Given the description of an element on the screen output the (x, y) to click on. 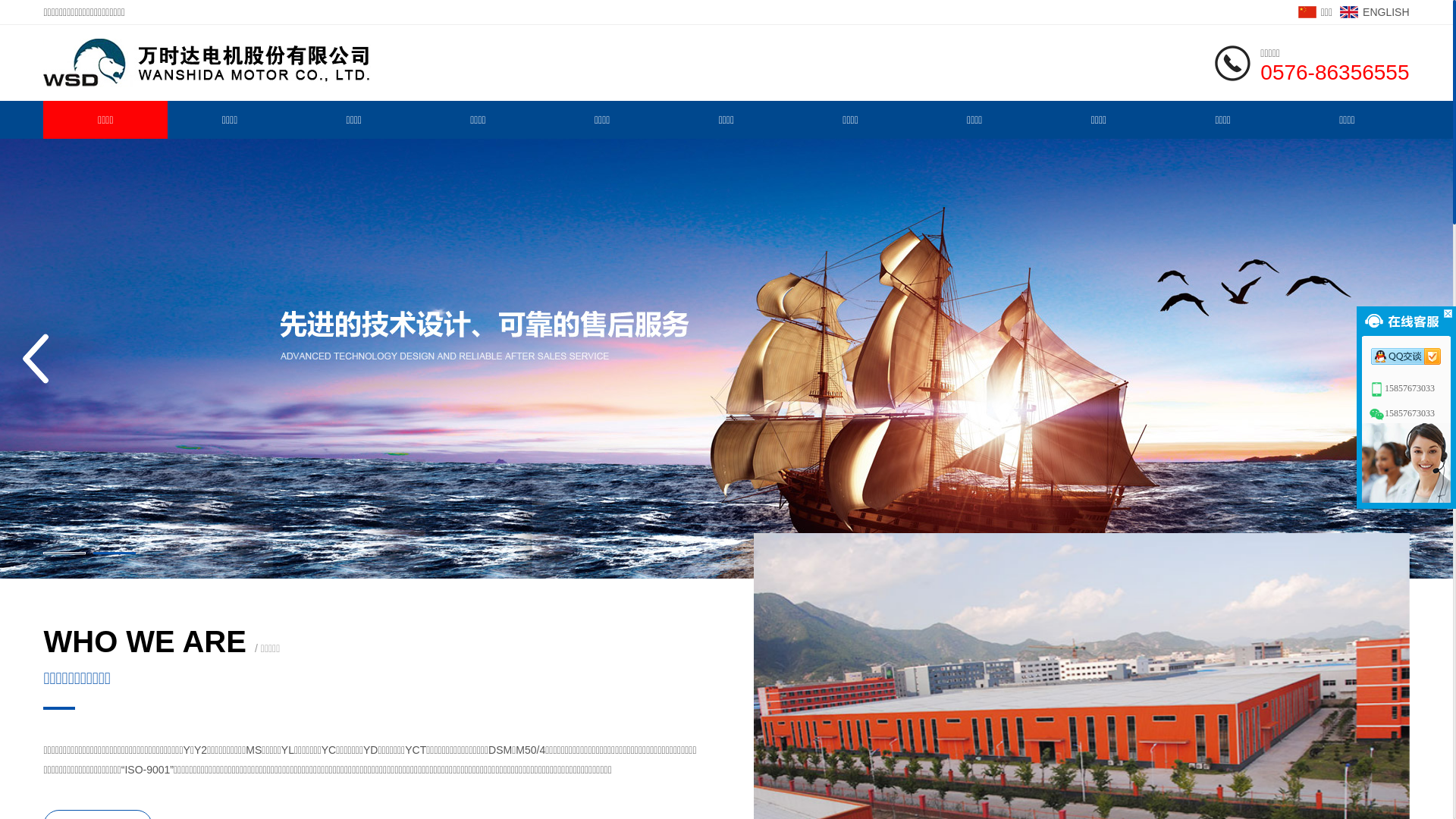
1 Element type: text (64, 553)
Next Element type: text (1417, 358)
2 Element type: text (114, 553)
ENGLISH Element type: text (1373, 12)
Previous Element type: text (35, 358)
